Given the description of an element on the screen output the (x, y) to click on. 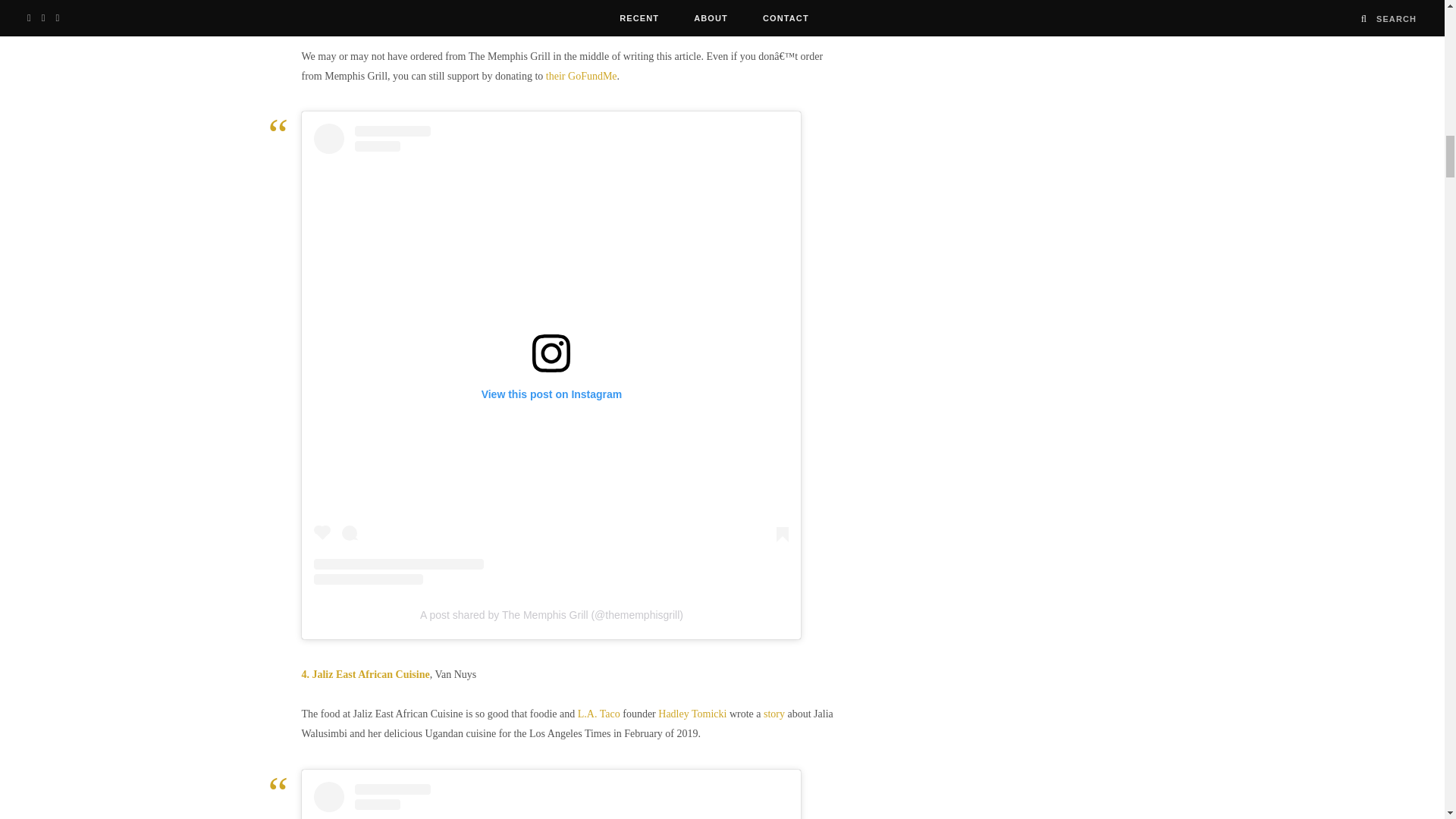
Hadley Tomicki (691, 713)
4. Jaliz East African Cuisine (365, 674)
L.A. Taco (597, 713)
story (773, 713)
. The Memphis Grill (349, 16)
their GoFundMe (581, 75)
View this post on Instagram (551, 800)
